Given the description of an element on the screen output the (x, y) to click on. 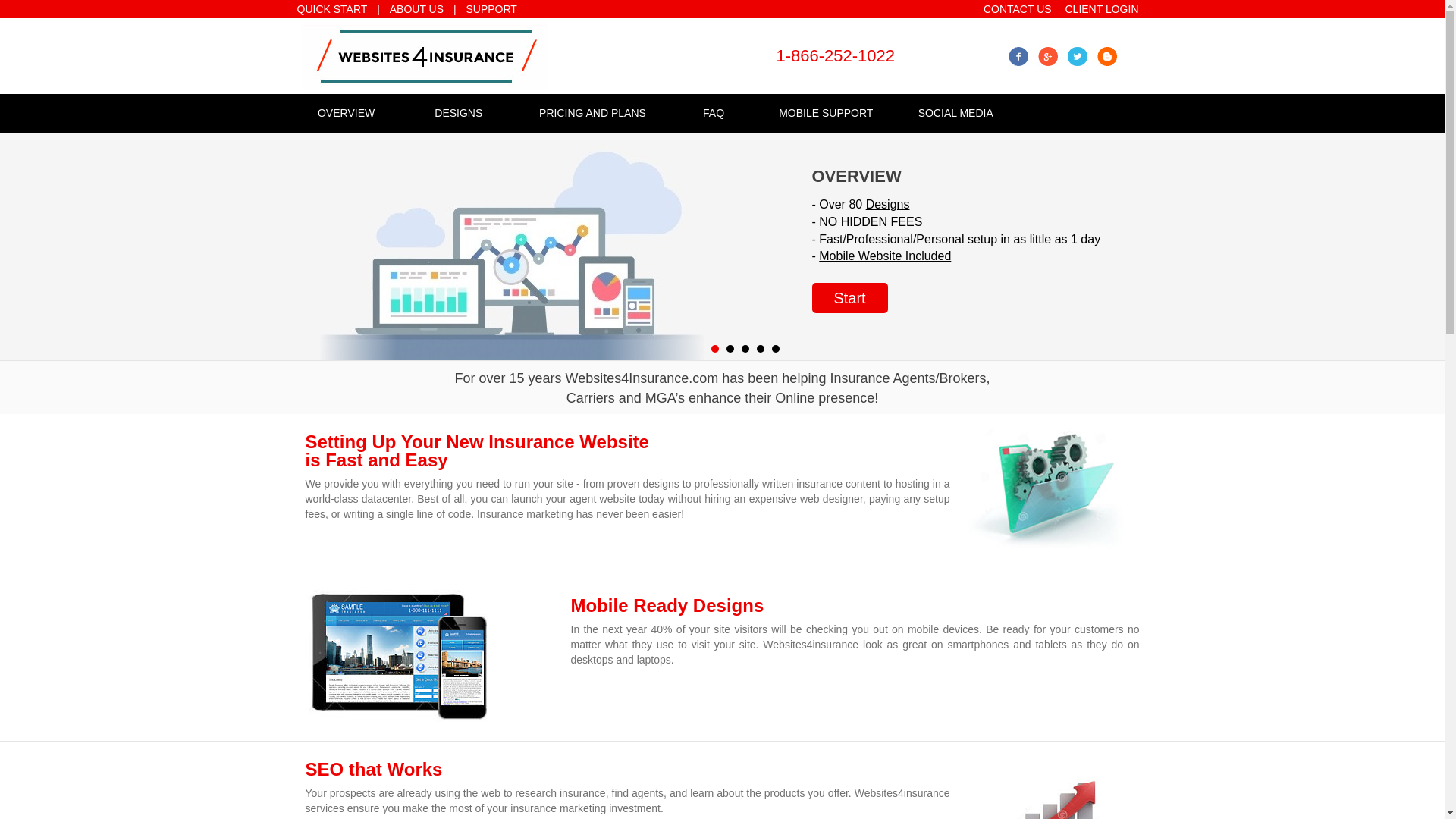
QUICK START (331, 9)
CLIENT LOGIN (1101, 9)
Designs (888, 204)
DESIGNS (459, 112)
. (760, 348)
NO HIDDEN FEES (869, 221)
OVERVIEW (345, 112)
. (745, 348)
MOBILE SUPPORT (826, 112)
. (729, 348)
